Given the description of an element on the screen output the (x, y) to click on. 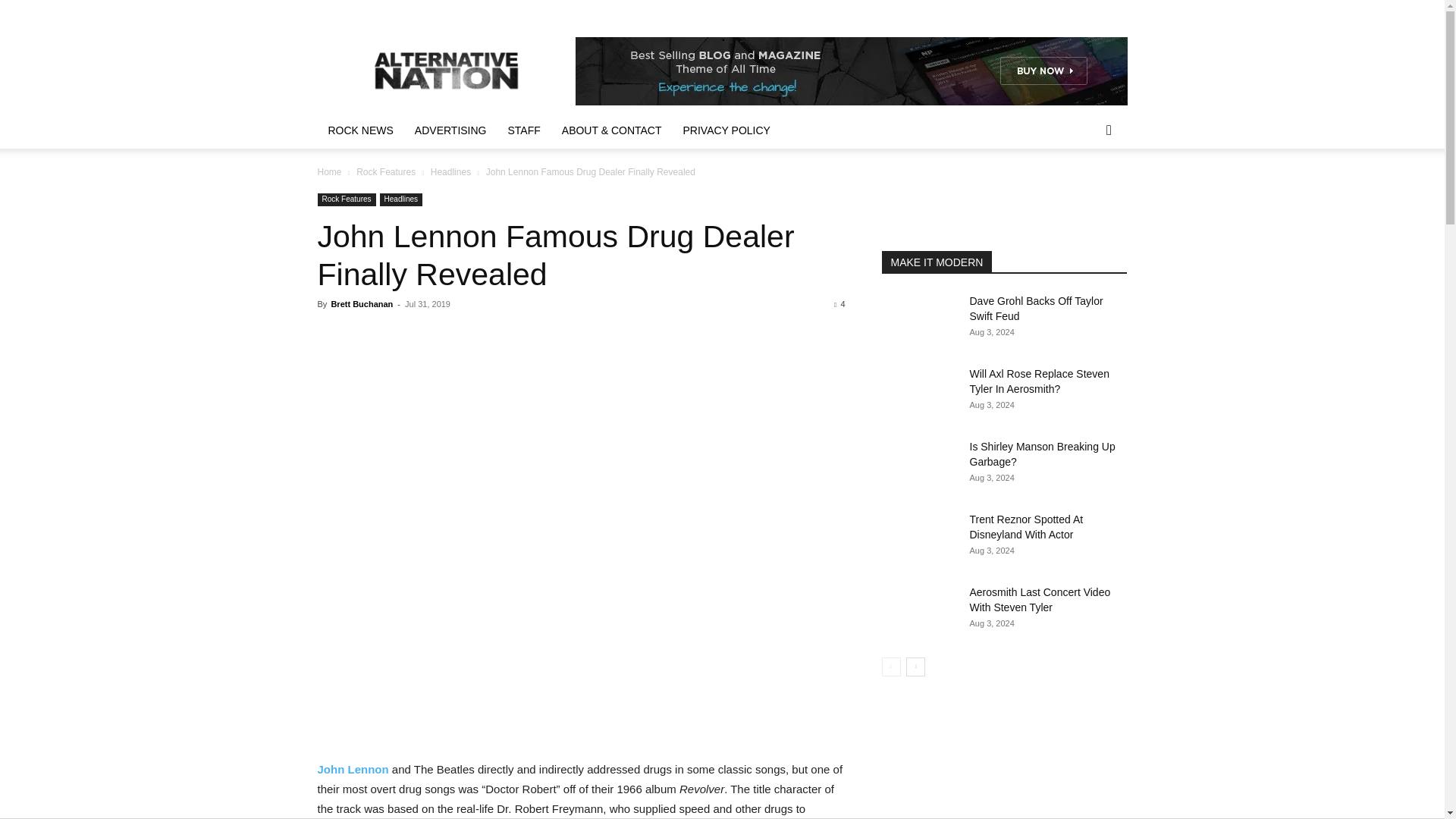
Brett Buchanan (361, 303)
PRIVACY POLICY (726, 130)
4 (839, 303)
John Lennon (352, 768)
Home (328, 172)
ADVERTISING (450, 130)
Search (1085, 191)
Headlines (450, 172)
Rock Features (346, 199)
View all posts in Headlines (450, 172)
STAFF (524, 130)
Rock Features (385, 172)
Headlines (401, 199)
ROCK NEWS (360, 130)
